Given the description of an element on the screen output the (x, y) to click on. 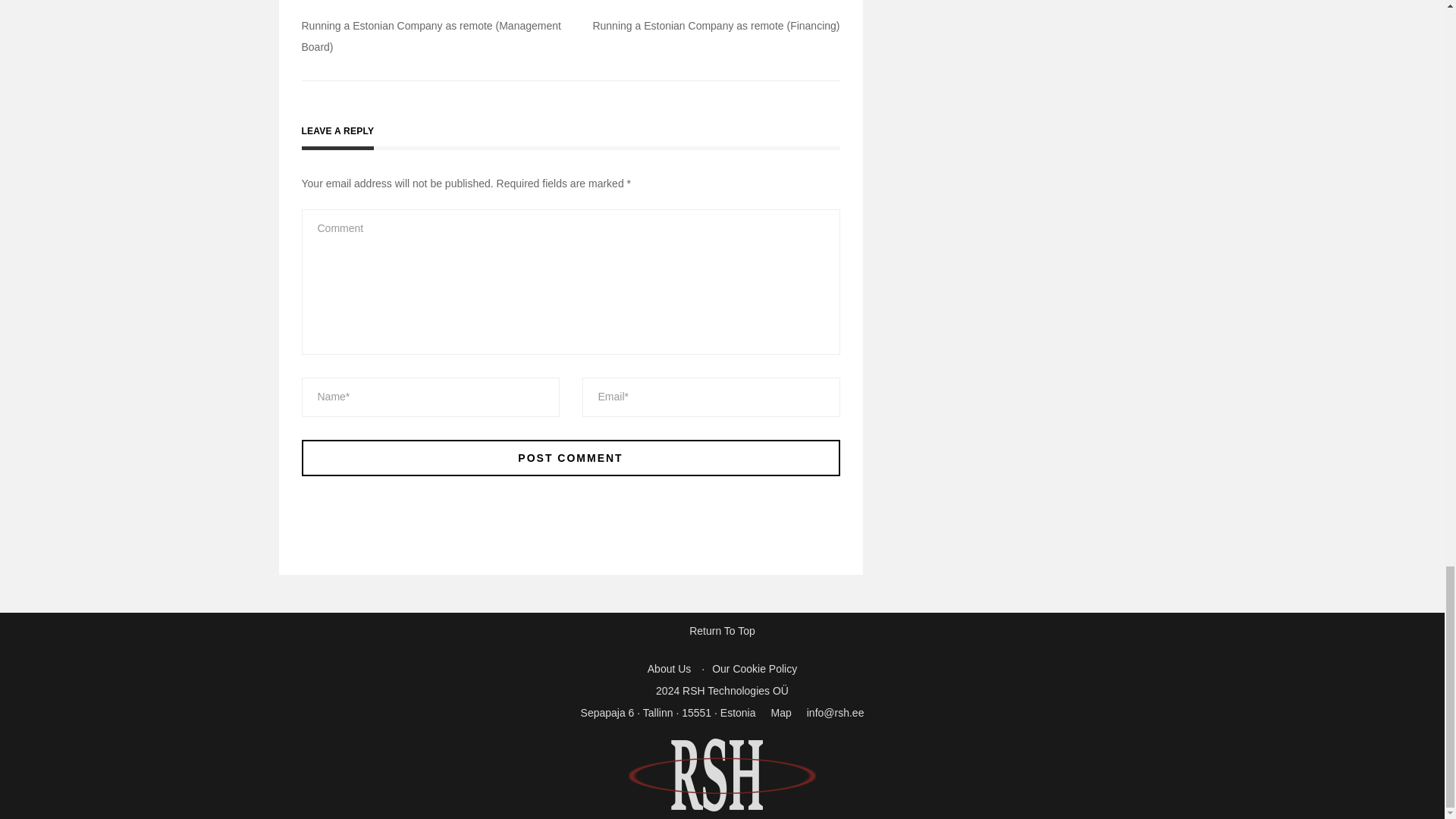
Post Comment (570, 457)
